Given the description of an element on the screen output the (x, y) to click on. 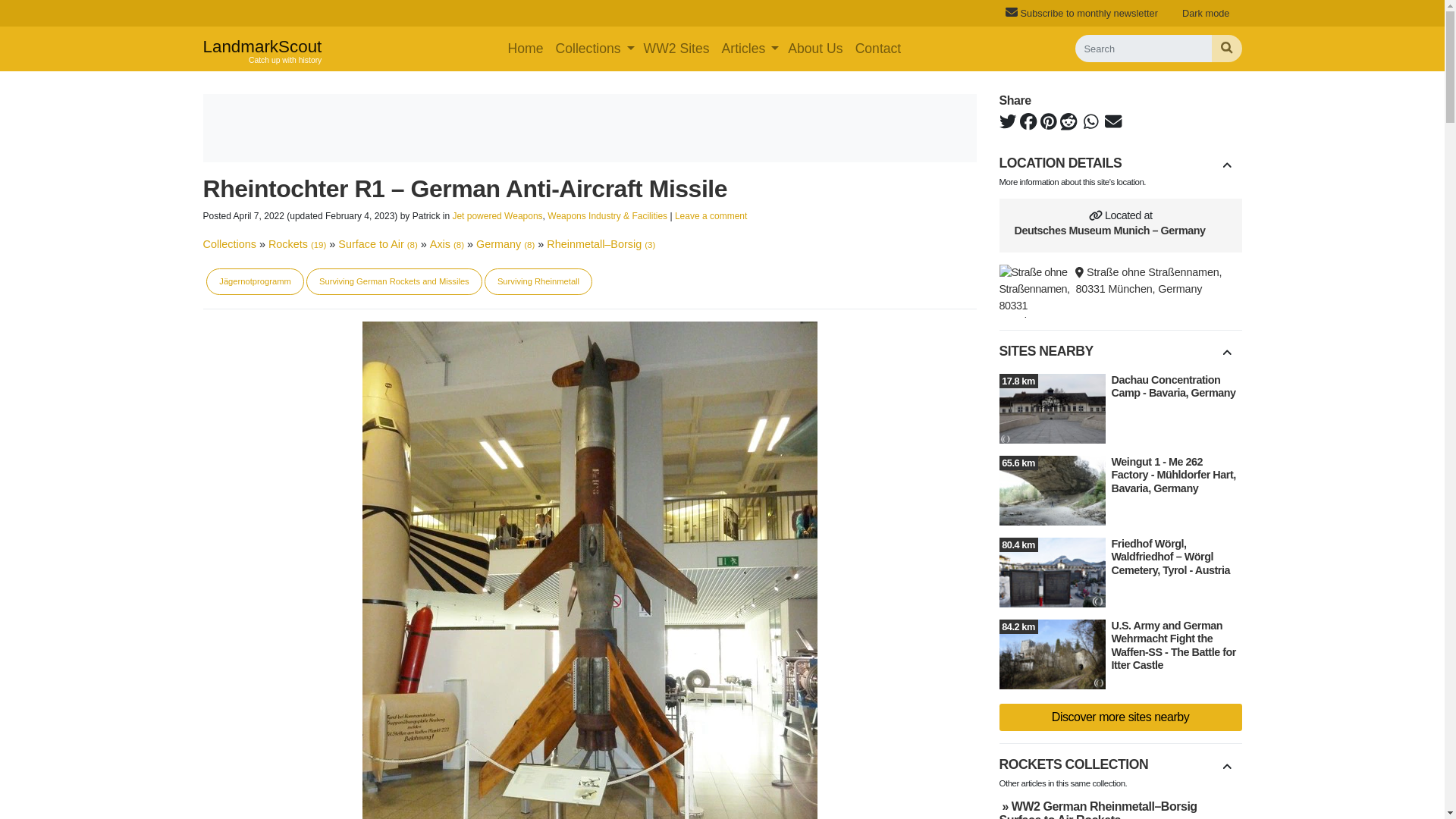
LandmarkScout (262, 48)
Collections (262, 48)
Dark mode (587, 48)
Home (1205, 13)
Collections (526, 48)
Articles (587, 48)
WW2 Sites (743, 48)
Subscribe to monthly newsletter (676, 48)
About Us (1081, 13)
